Given the description of an element on the screen output the (x, y) to click on. 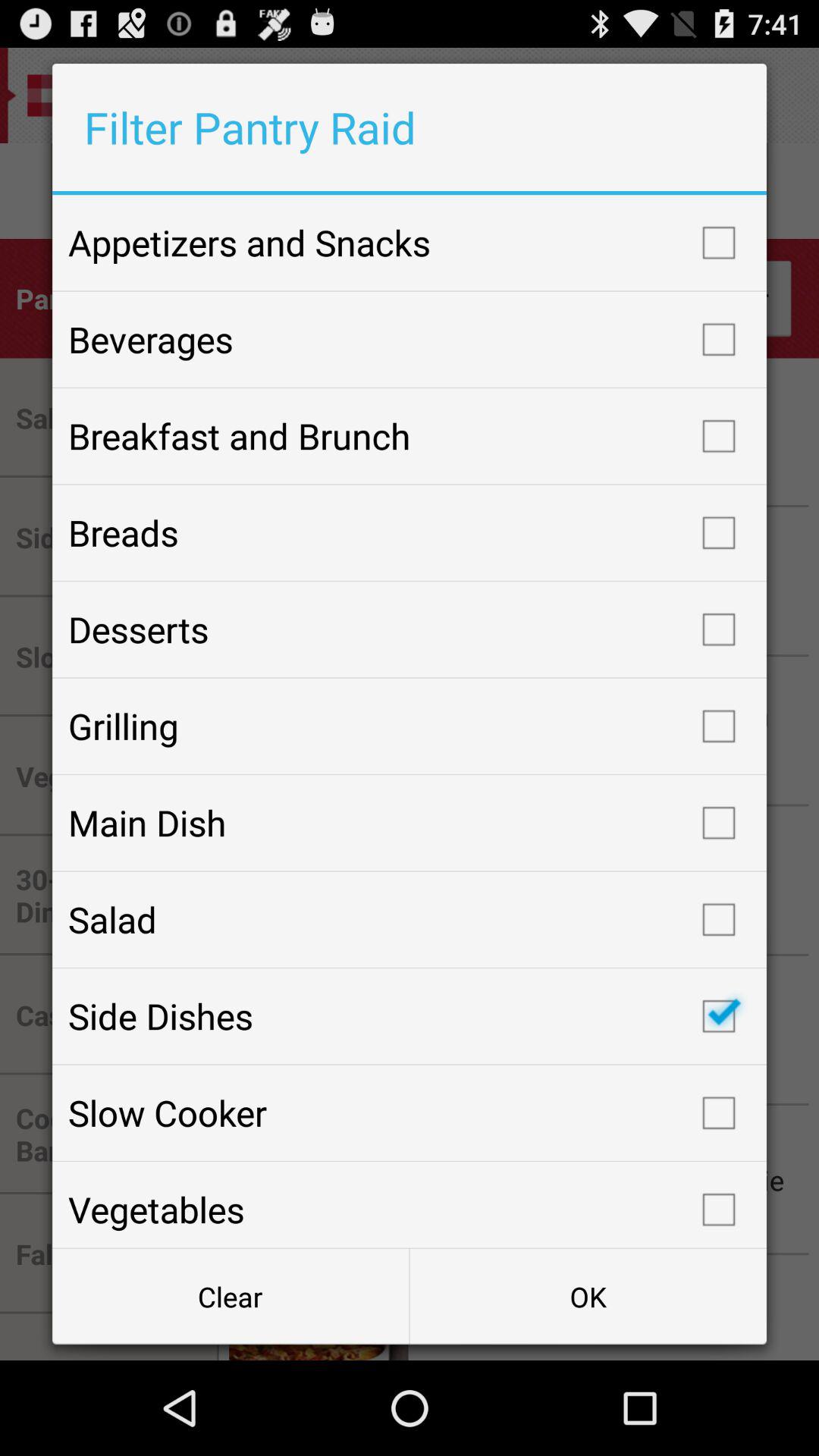
turn off the breakfast and brunch (409, 436)
